Given the description of an element on the screen output the (x, y) to click on. 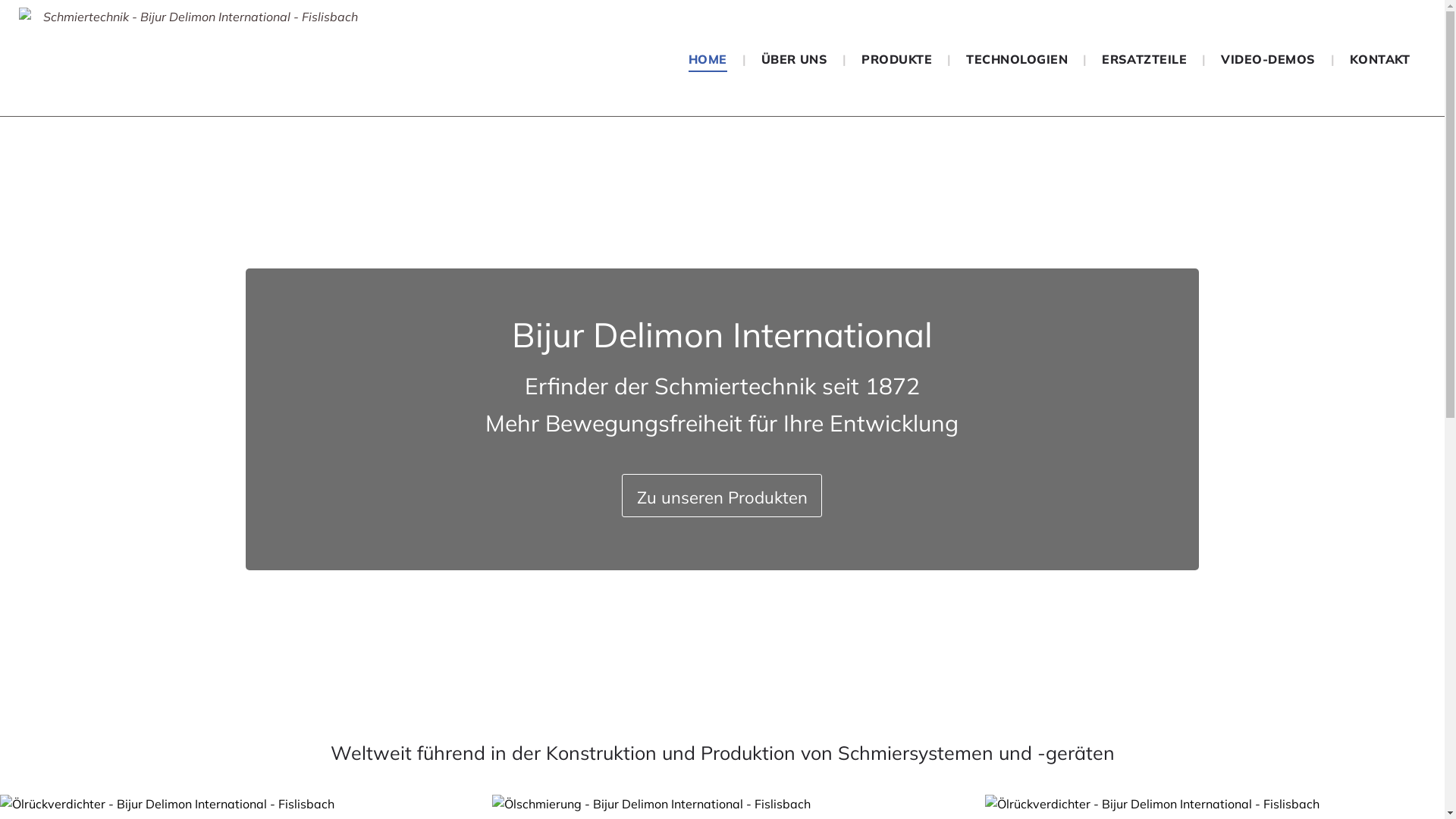
KONTAKT Element type: text (1379, 59)
PRODUKTE Element type: text (896, 59)
ERSATZTEILE Element type: text (1143, 59)
TECHNOLOGIEN Element type: text (1016, 59)
Zu unseren Produkten Element type: text (721, 495)
HOME Element type: text (707, 59)
VIDEO-DEMOS Element type: text (1267, 59)
